Given the description of an element on the screen output the (x, y) to click on. 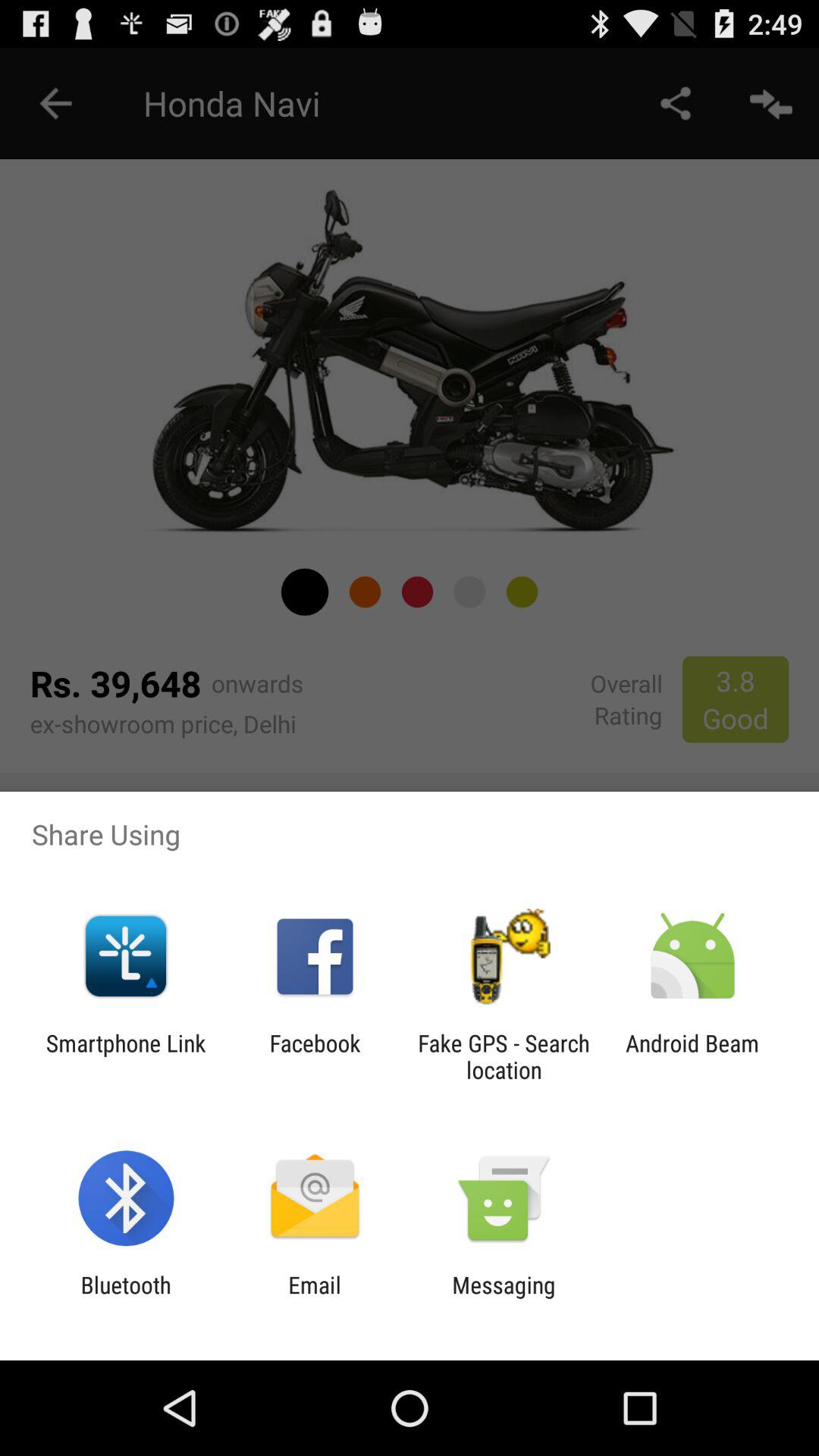
swipe to email app (314, 1298)
